Given the description of an element on the screen output the (x, y) to click on. 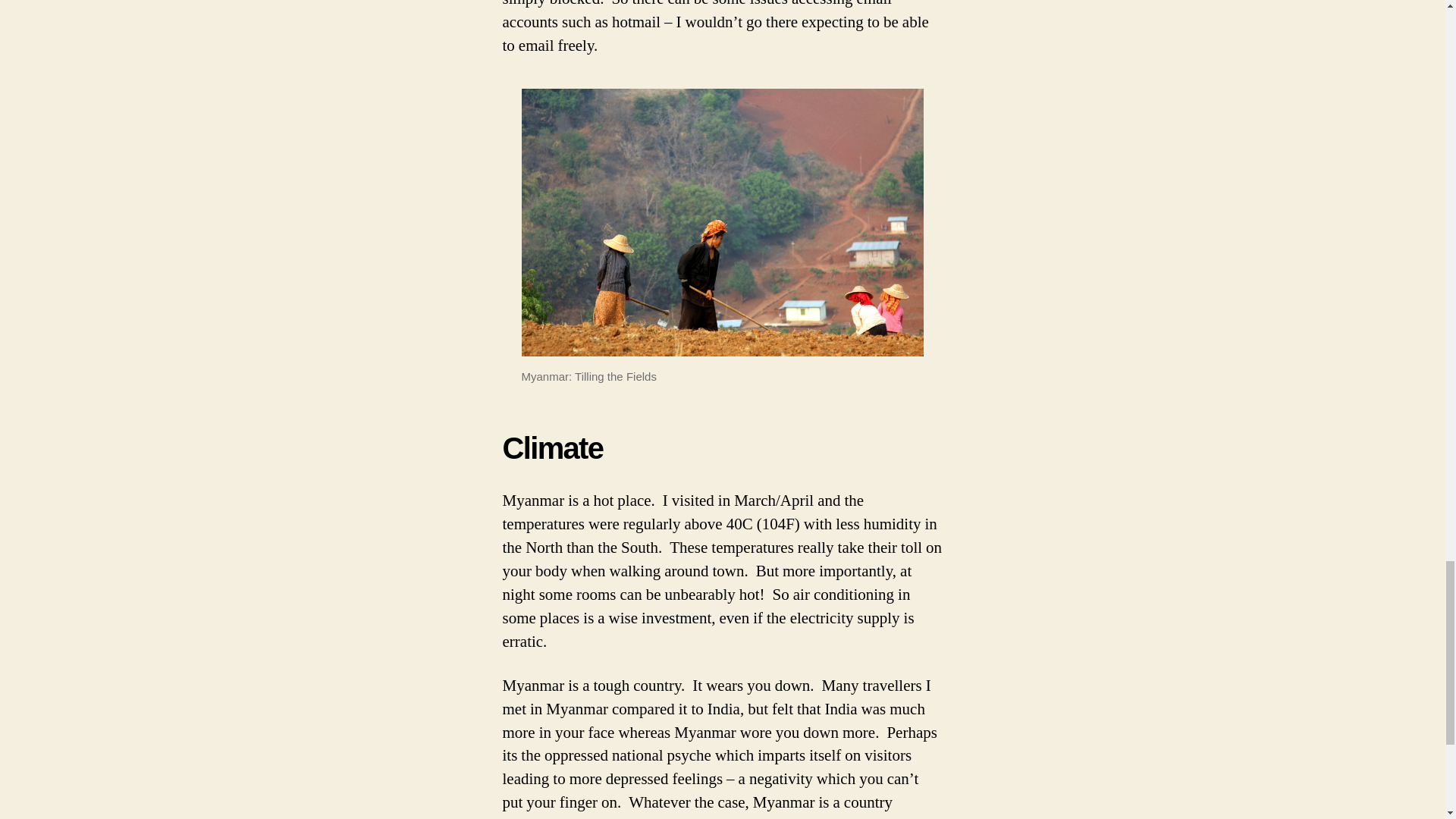
Myanmar: Tilling the Fields (722, 222)
